Given the description of an element on the screen output the (x, y) to click on. 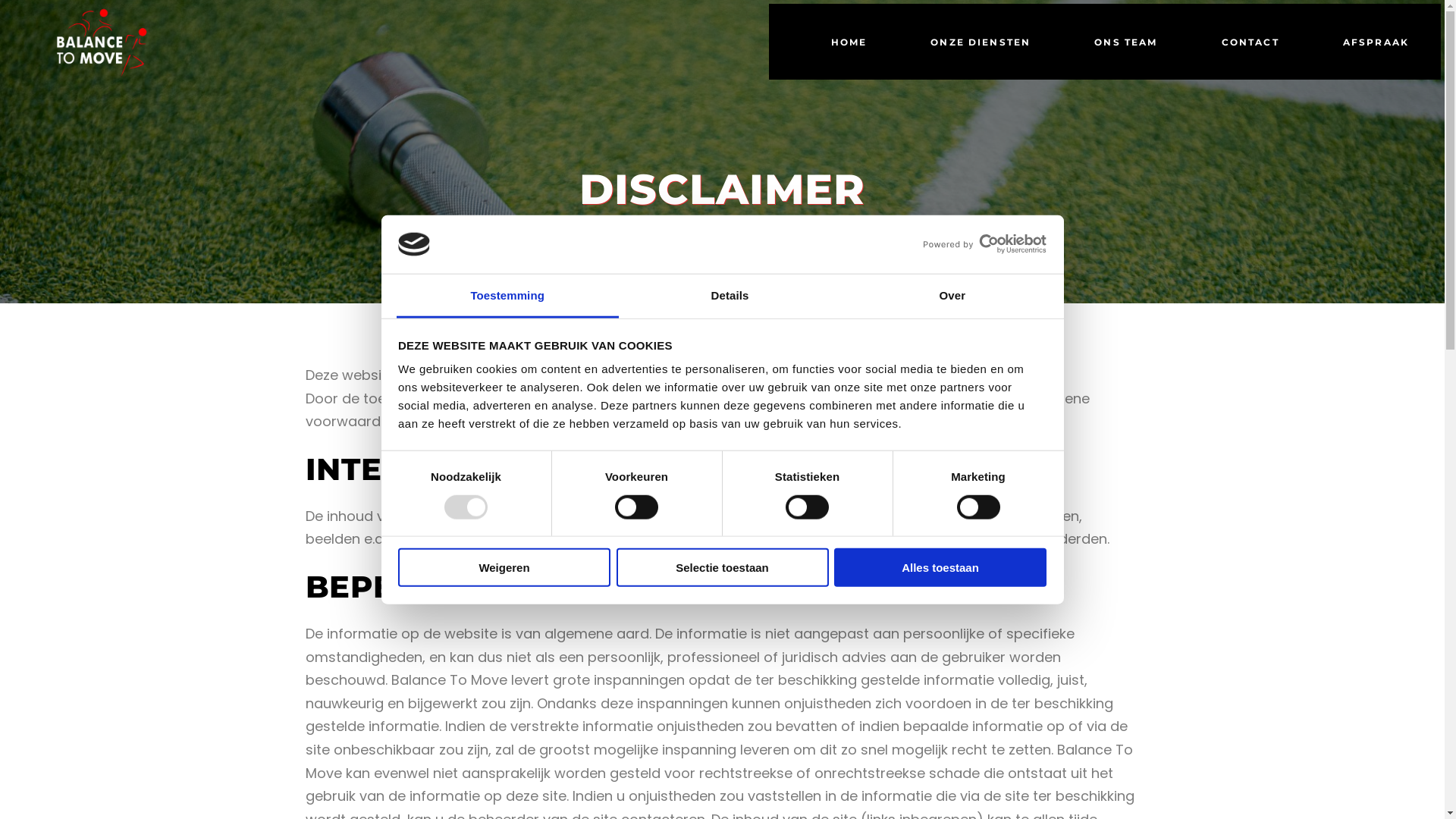
info@balancetomove.be Element type: text (767, 374)
HOME Element type: text (849, 41)
Alles toestaan Element type: text (940, 567)
ONZE DIENSTEN Element type: text (980, 41)
Toestemming Element type: text (506, 296)
Weigeren Element type: text (504, 567)
AFSPRAAK Element type: text (1375, 41)
ONS TEAM Element type: text (1125, 41)
Selectie toestaan Element type: text (721, 567)
Details Element type: text (729, 296)
CONTACT Element type: text (1250, 41)
Over Element type: text (951, 296)
